Given the description of an element on the screen output the (x, y) to click on. 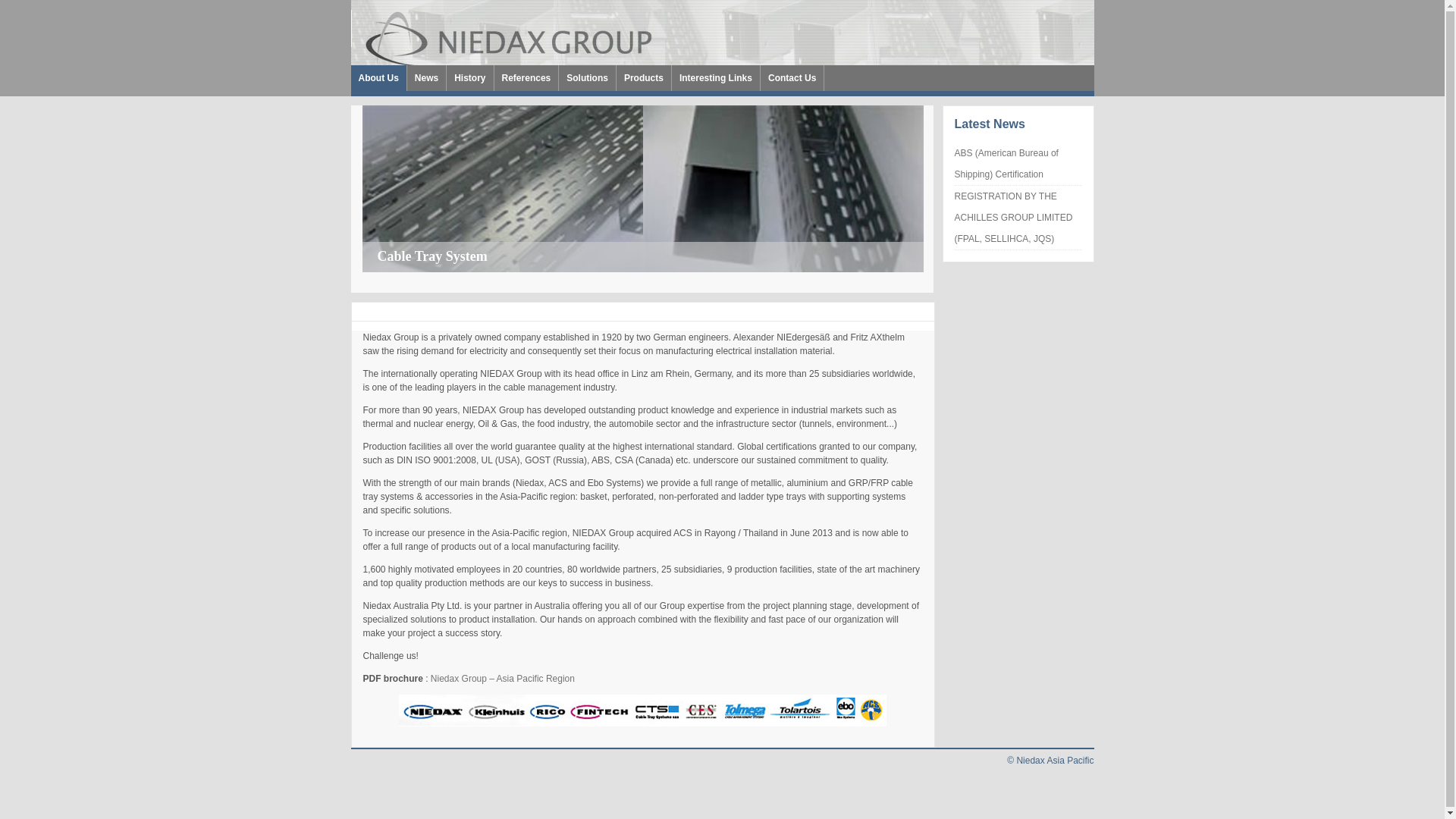
News Element type: text (426, 77)
History Element type: text (469, 77)
About Us Element type: text (377, 77)
Cable Tray System Element type: hover (642, 188)
ABS (American Bureau of Shipping) Certification Element type: text (1005, 163)
Products Element type: text (643, 77)
Solutions Element type: text (586, 77)
Contact Us Element type: text (791, 77)
Interesting Links Element type: text (715, 77)
Cable Tray System Element type: text (432, 255)
References Element type: text (526, 77)
